Given the description of an element on the screen output the (x, y) to click on. 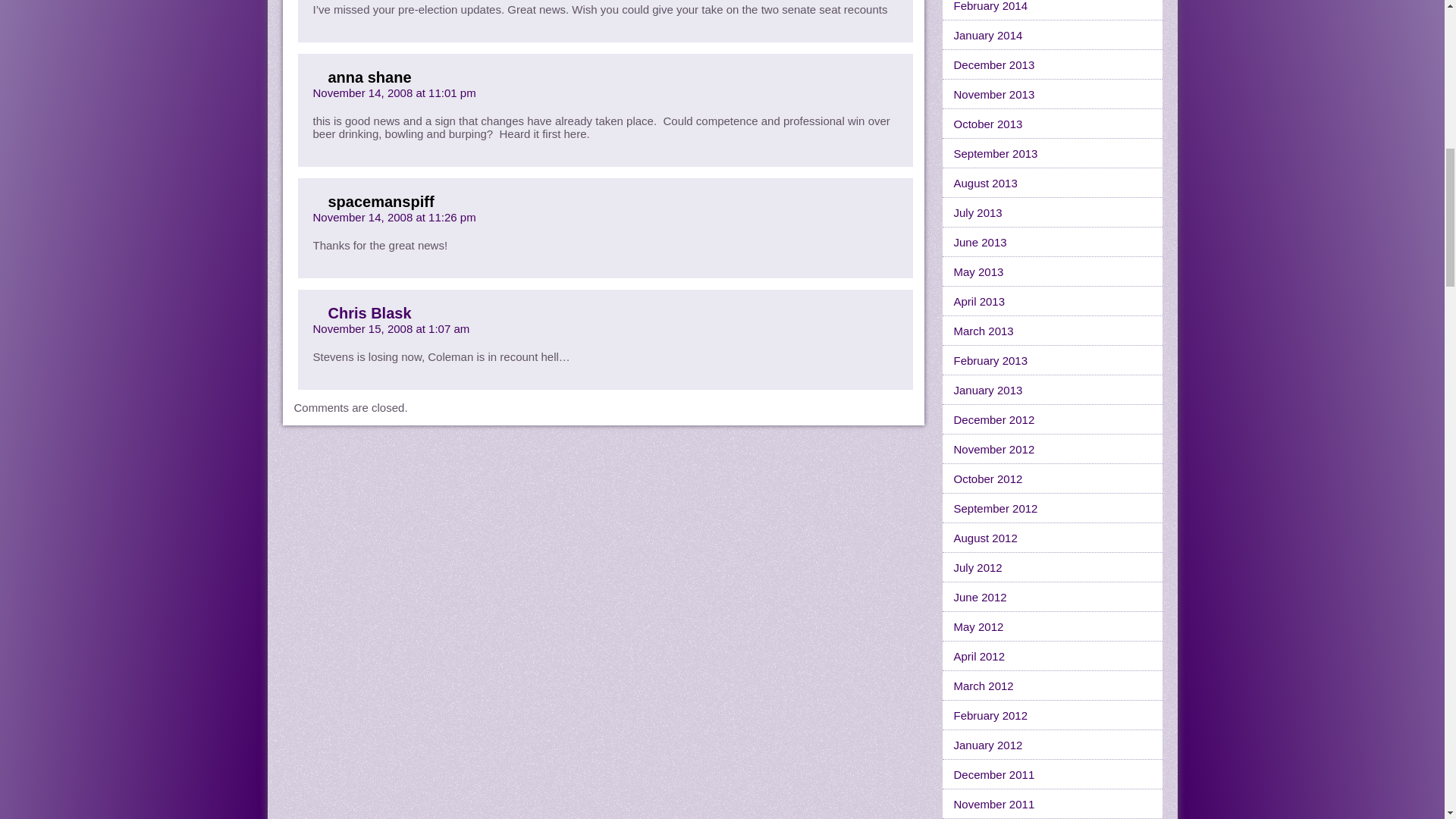
November 15, 2008 at 1:07 am (390, 328)
November 14, 2008 at 11:01 pm (394, 92)
November 2013 (1051, 93)
August 2013 (1051, 183)
July 2013 (1051, 212)
Chris Blask (368, 312)
September 2013 (1051, 153)
February 2014 (1051, 10)
December 2013 (1051, 64)
January 2014 (1051, 34)
